Given the description of an element on the screen output the (x, y) to click on. 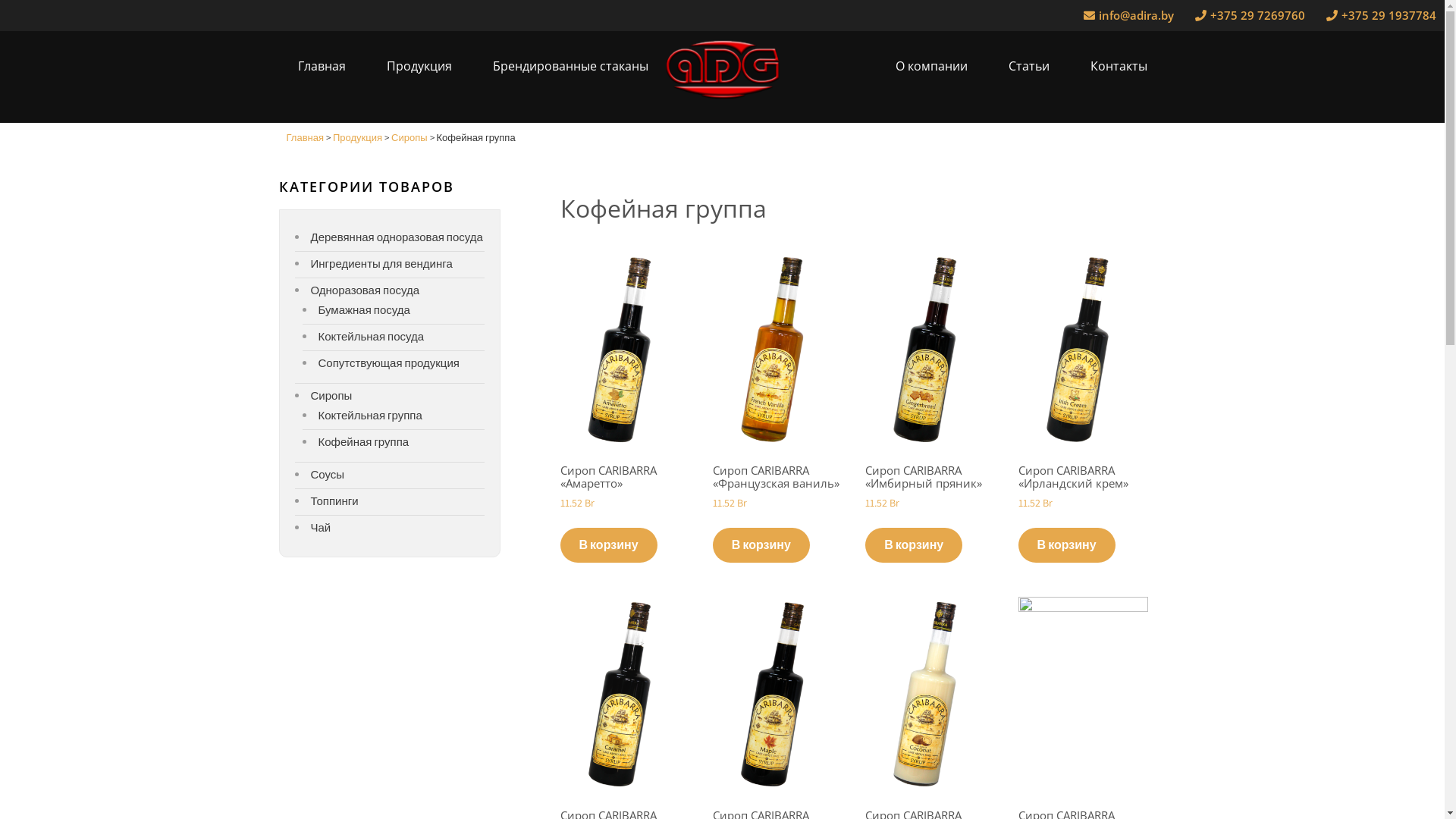
+375 29 7269760 Element type: text (1247, 14)
info@adira.by Element type: text (1126, 14)
+375 29 1937784 Element type: text (1379, 14)
